Given the description of an element on the screen output the (x, y) to click on. 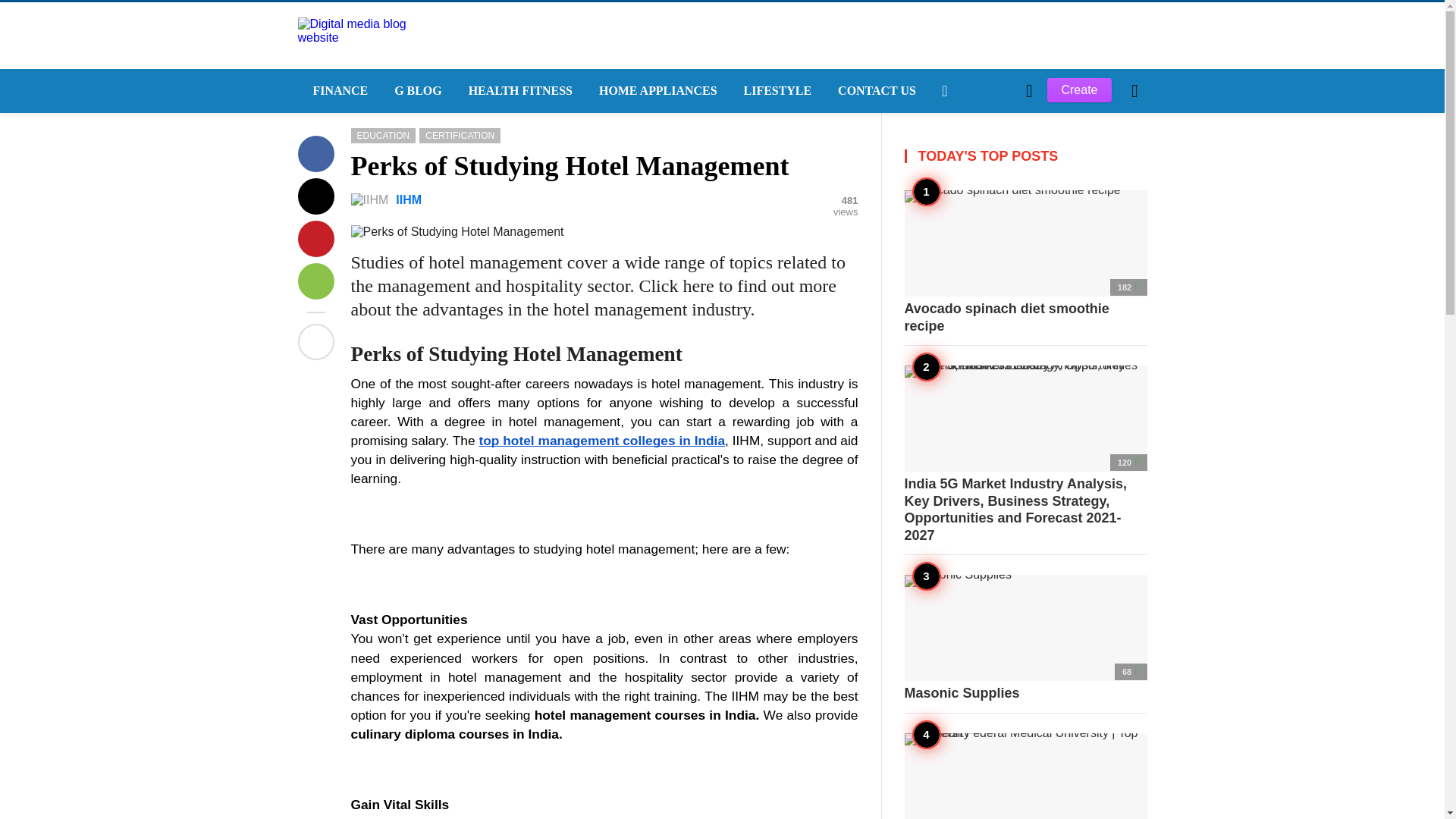
HEALTH FITNESS (517, 90)
LIFESTYLE (776, 90)
Avocado spinach diet smoothie recipe (1025, 262)
FINANCE (337, 90)
CONTACT US (874, 90)
G BLOG (415, 90)
HOME APPLIANCES (656, 90)
Masonic Supplies (1025, 637)
sign up (964, 347)
